Given the description of an element on the screen output the (x, y) to click on. 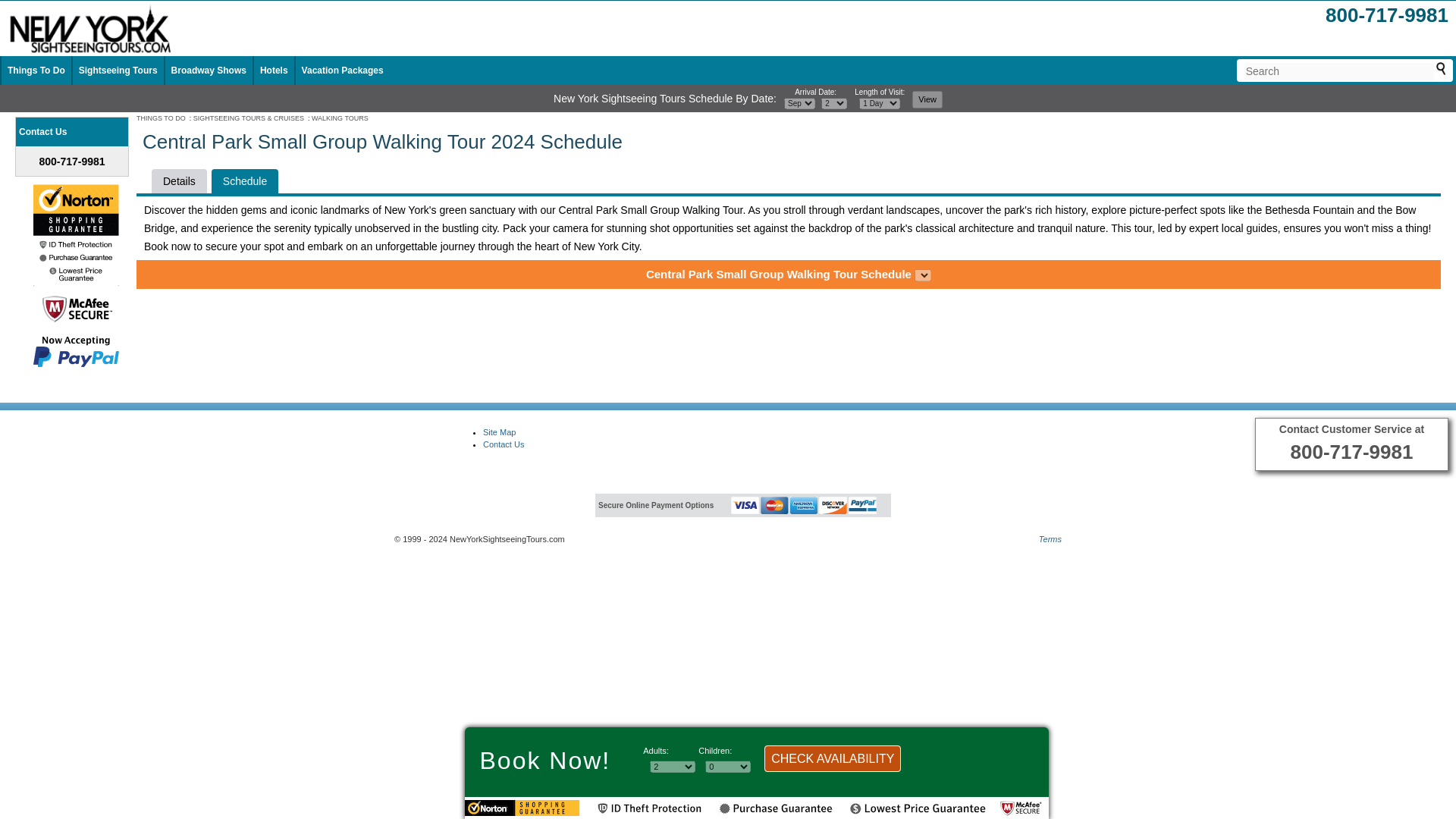
Terms (1050, 537)
THINGS TO DO (161, 118)
Broadway Shows (208, 70)
View (927, 99)
WALKING TOURS (339, 118)
Details (179, 180)
Things To Do (36, 70)
View (927, 99)
Schedule (244, 180)
Contact Us (503, 443)
